Given the description of an element on the screen output the (x, y) to click on. 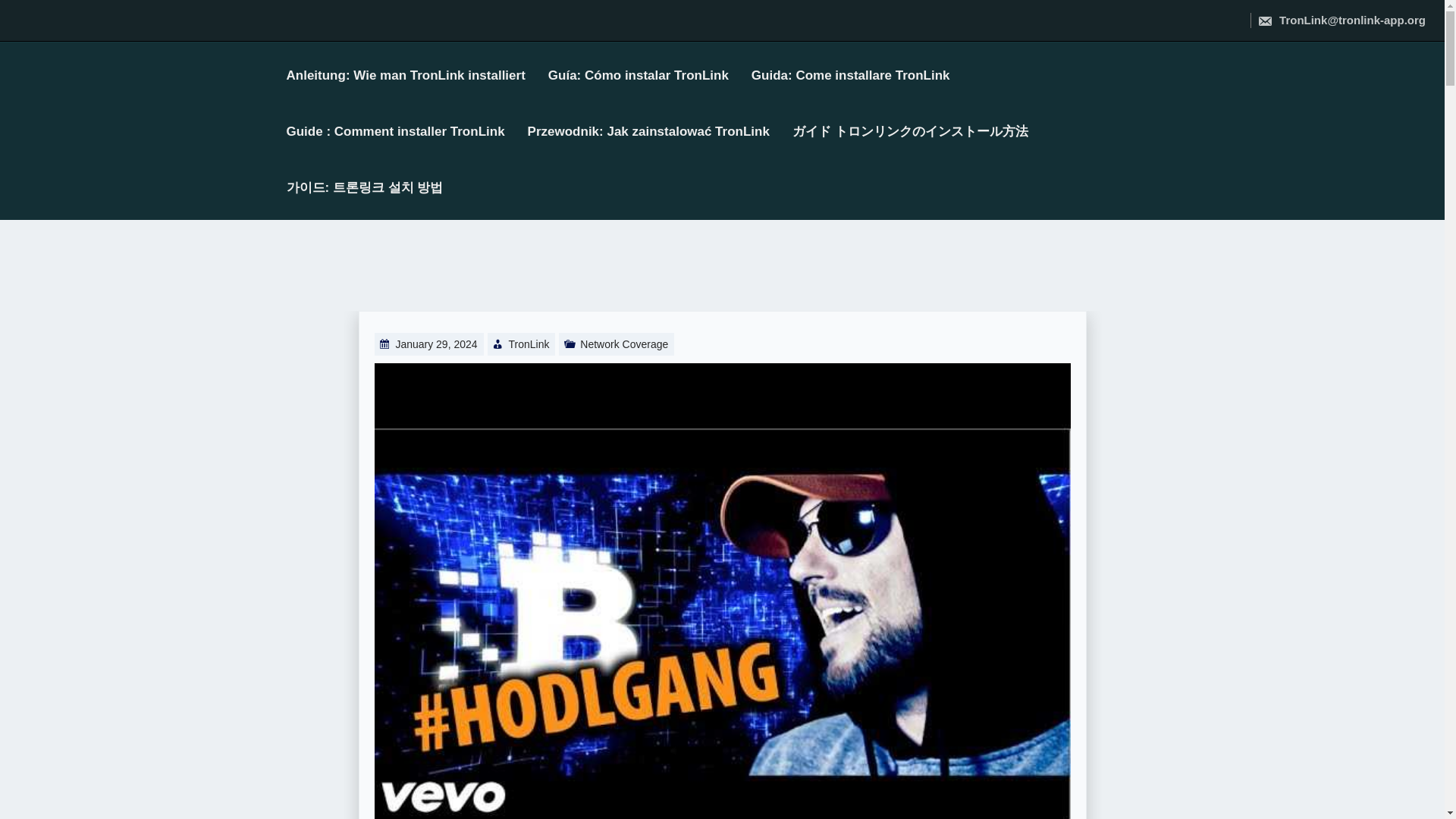
January 29, 2024 (435, 344)
TronLink (528, 344)
Guida: Come installare TronLink (861, 75)
Network Coverage (623, 344)
Guide : Comment installer TronLink (406, 131)
Anleitung: Wie man TronLink installiert (417, 75)
